Given the description of an element on the screen output the (x, y) to click on. 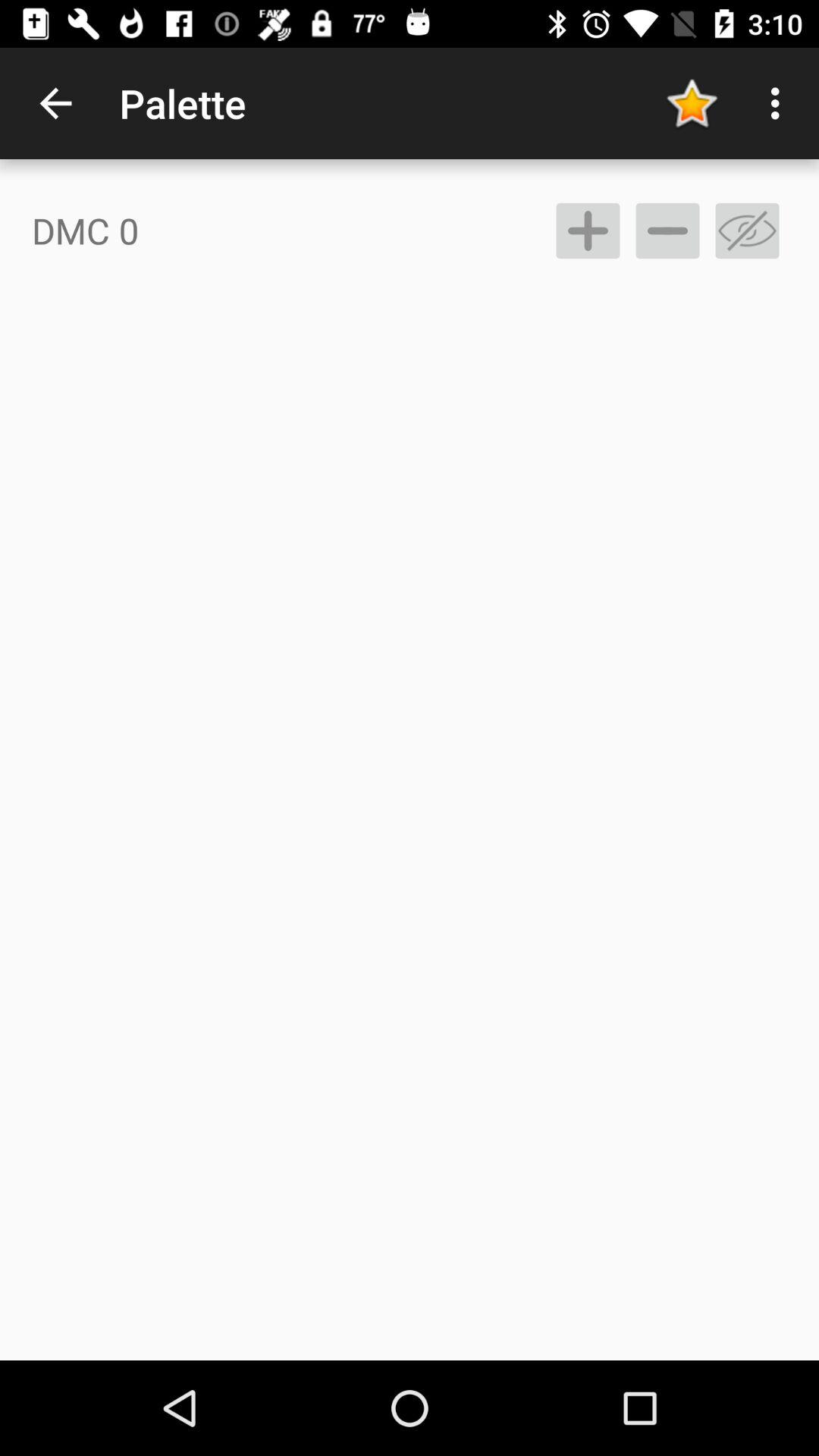
choose the icon above the dmc 0 (55, 103)
